Given the description of an element on the screen output the (x, y) to click on. 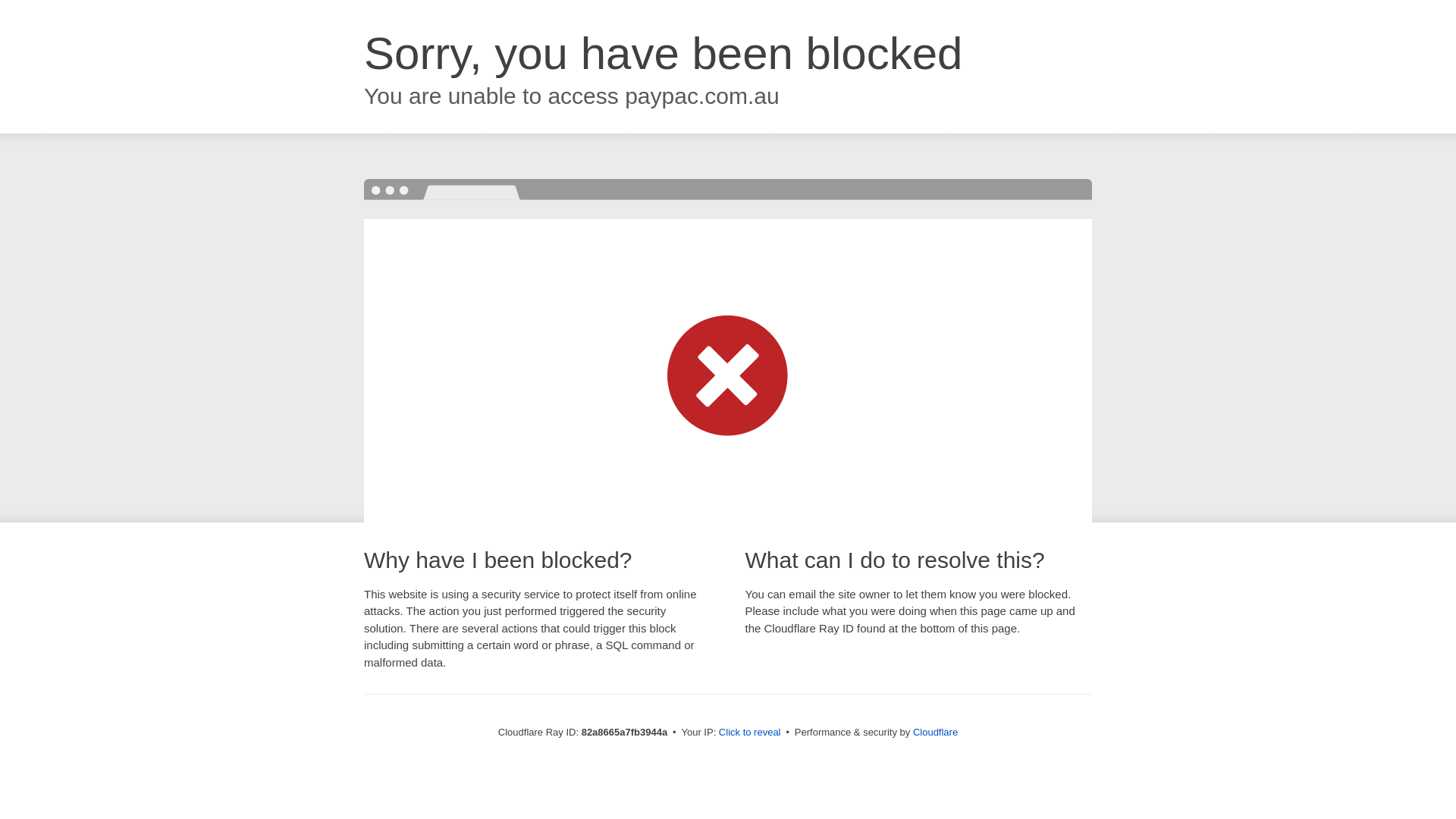
Cloudflare Element type: text (935, 731)
Click to reveal Element type: text (749, 732)
